Given the description of an element on the screen output the (x, y) to click on. 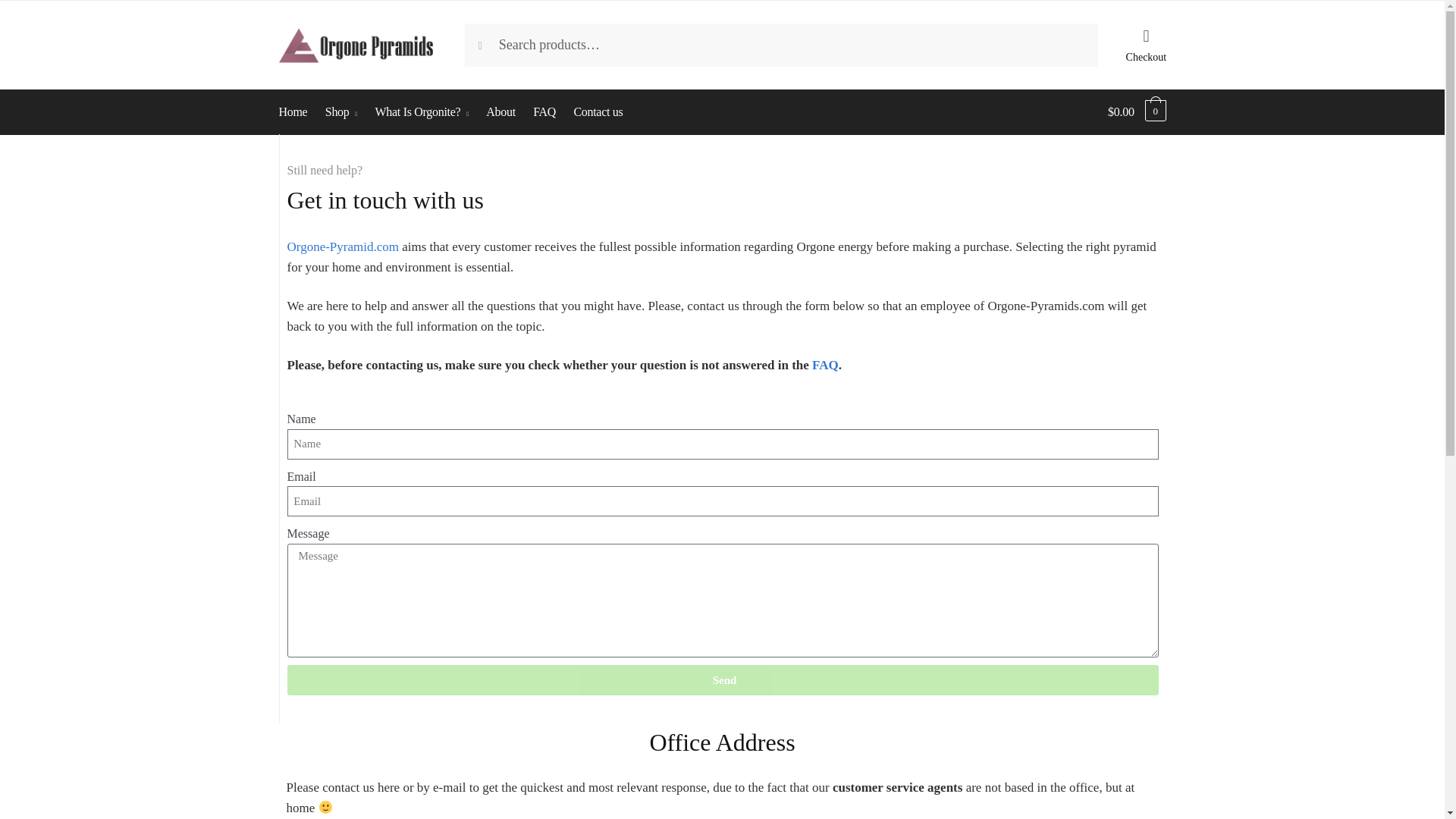
Contact us (597, 112)
About (500, 112)
FAQ (825, 364)
What Is Orgonite? (421, 112)
Search (494, 38)
Checkout (1145, 38)
Orgone-Pyramid.com (341, 246)
Shop (341, 112)
Send (721, 680)
View your shopping cart (1137, 112)
